Given the description of an element on the screen output the (x, y) to click on. 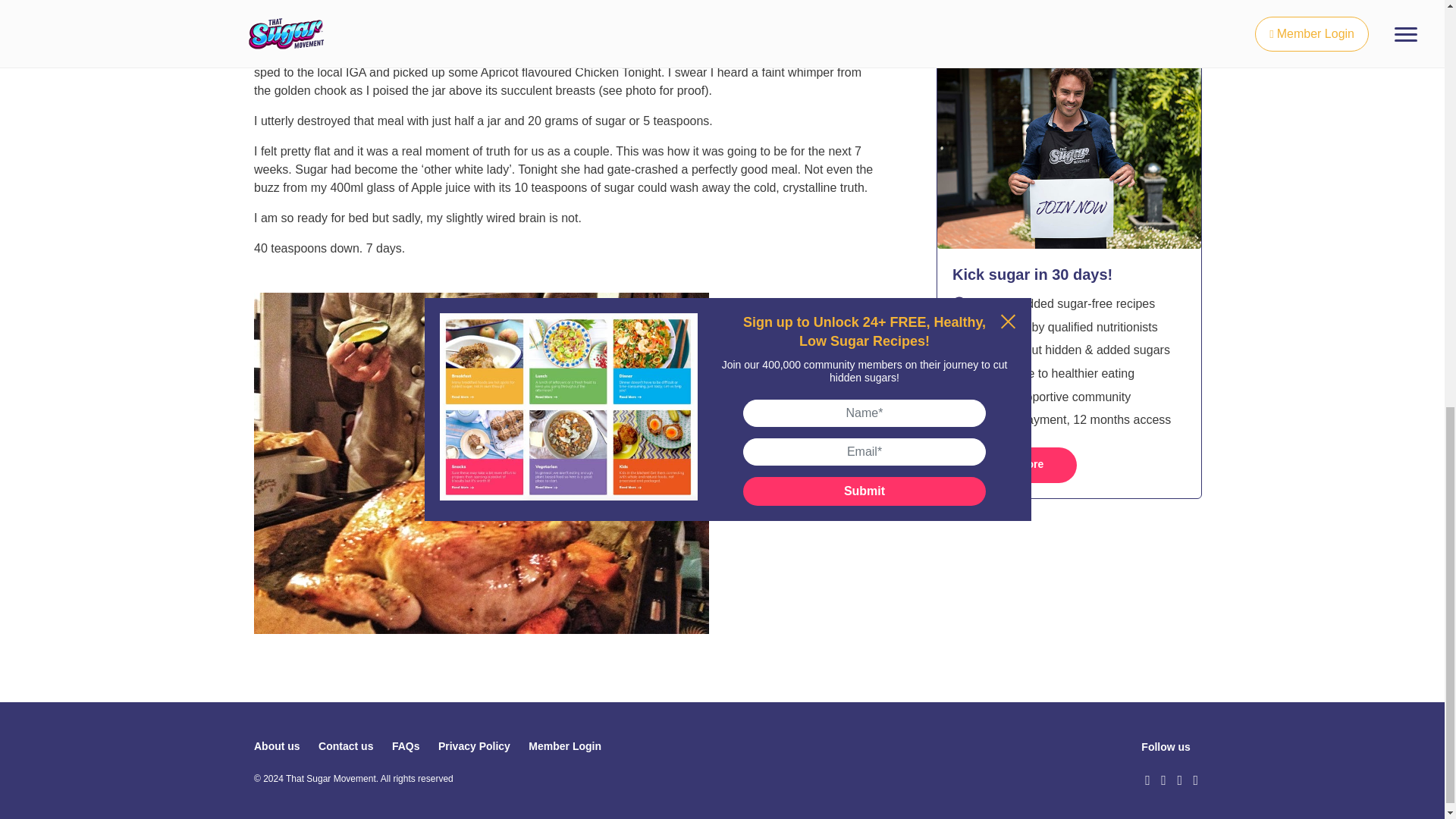
Privacy Policy (474, 746)
About us (276, 746)
Contact us (345, 746)
Member Login (564, 746)
FAQs (405, 746)
